Given the description of an element on the screen output the (x, y) to click on. 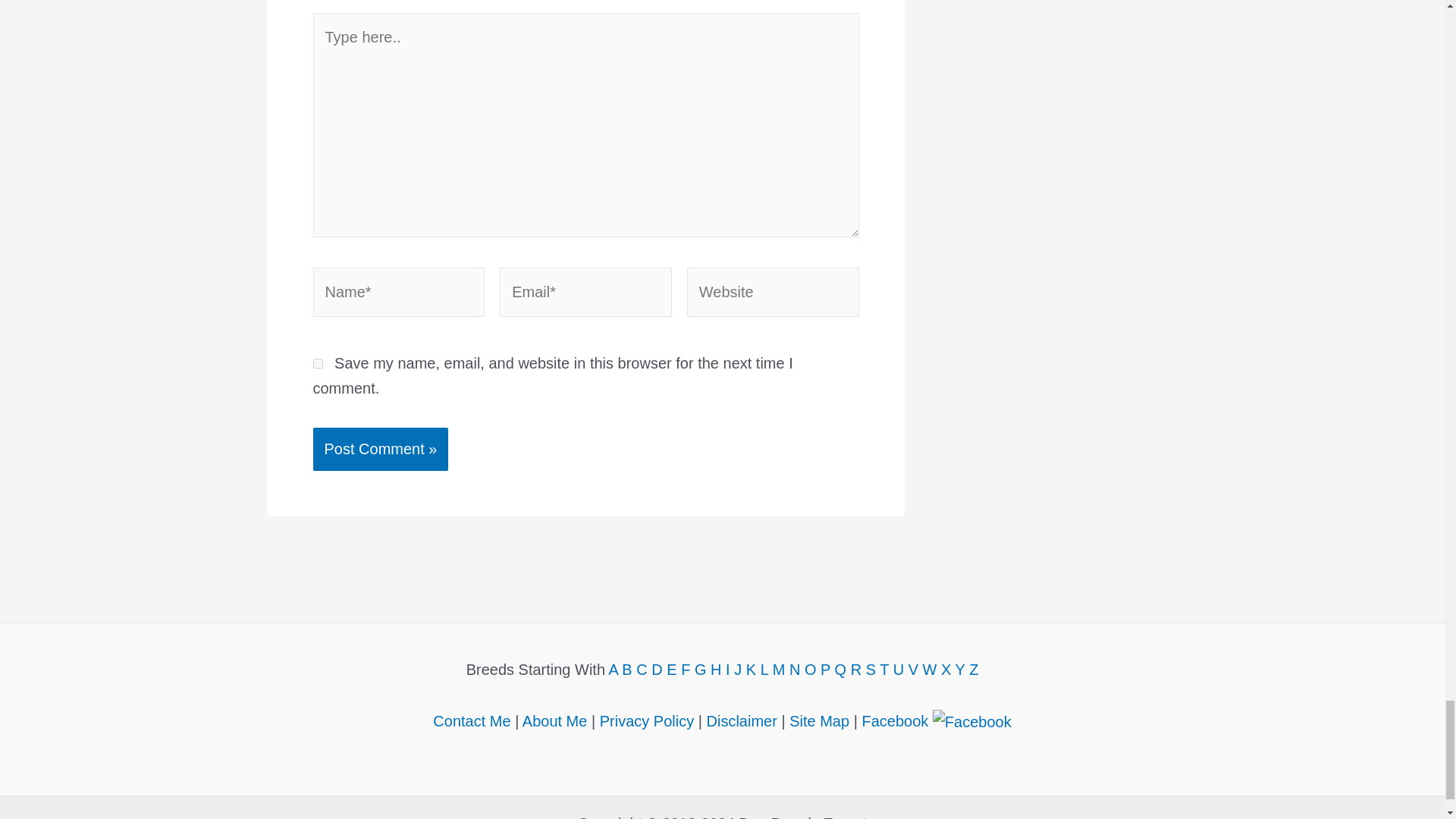
yes (317, 363)
